Given the description of an element on the screen output the (x, y) to click on. 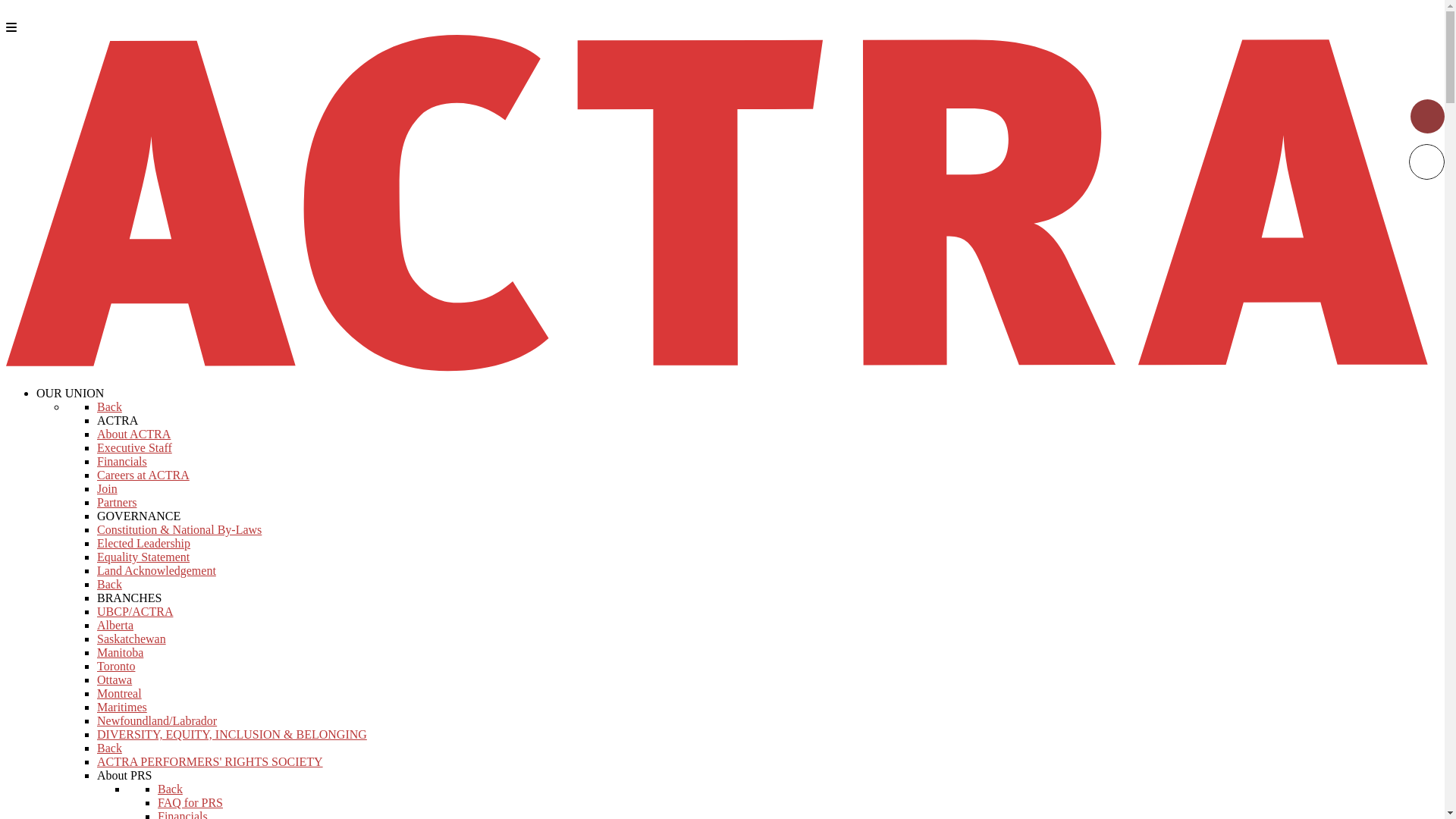
Constitution & National By-Laws Element type: text (179, 529)
DIVERSITY, EQUITY, INCLUSION & BELONGING Element type: text (232, 734)
ACTRA PERFORMERS' RIGHTS SOCIETY Element type: text (210, 761)
Careers at ACTRA Element type: text (143, 474)
Ottawa Element type: text (114, 679)
Elected Leadership Element type: text (143, 542)
ACTRA National Element type: hover (722, 366)
FAQ for PRS Element type: text (189, 802)
Back Element type: text (109, 406)
Montreal Element type: text (119, 693)
Manitoba Element type: text (120, 652)
Maritimes Element type: text (122, 706)
UBCP/ACTRA Element type: text (134, 611)
Alberta Element type: text (115, 624)
About ACTRA Element type: text (133, 433)
Executive Staff Element type: text (134, 447)
Toronto Element type: text (115, 665)
Newfoundland/Labrador Element type: text (156, 720)
Saskatchewan Element type: text (131, 638)
Partners Element type: text (116, 501)
Back Element type: text (109, 583)
Back Element type: text (109, 747)
Join Element type: text (107, 488)
Financials Element type: text (122, 461)
Equality Statement Element type: text (143, 556)
Back Element type: text (169, 788)
Land Acknowledgement Element type: text (156, 570)
